Given the description of an element on the screen output the (x, y) to click on. 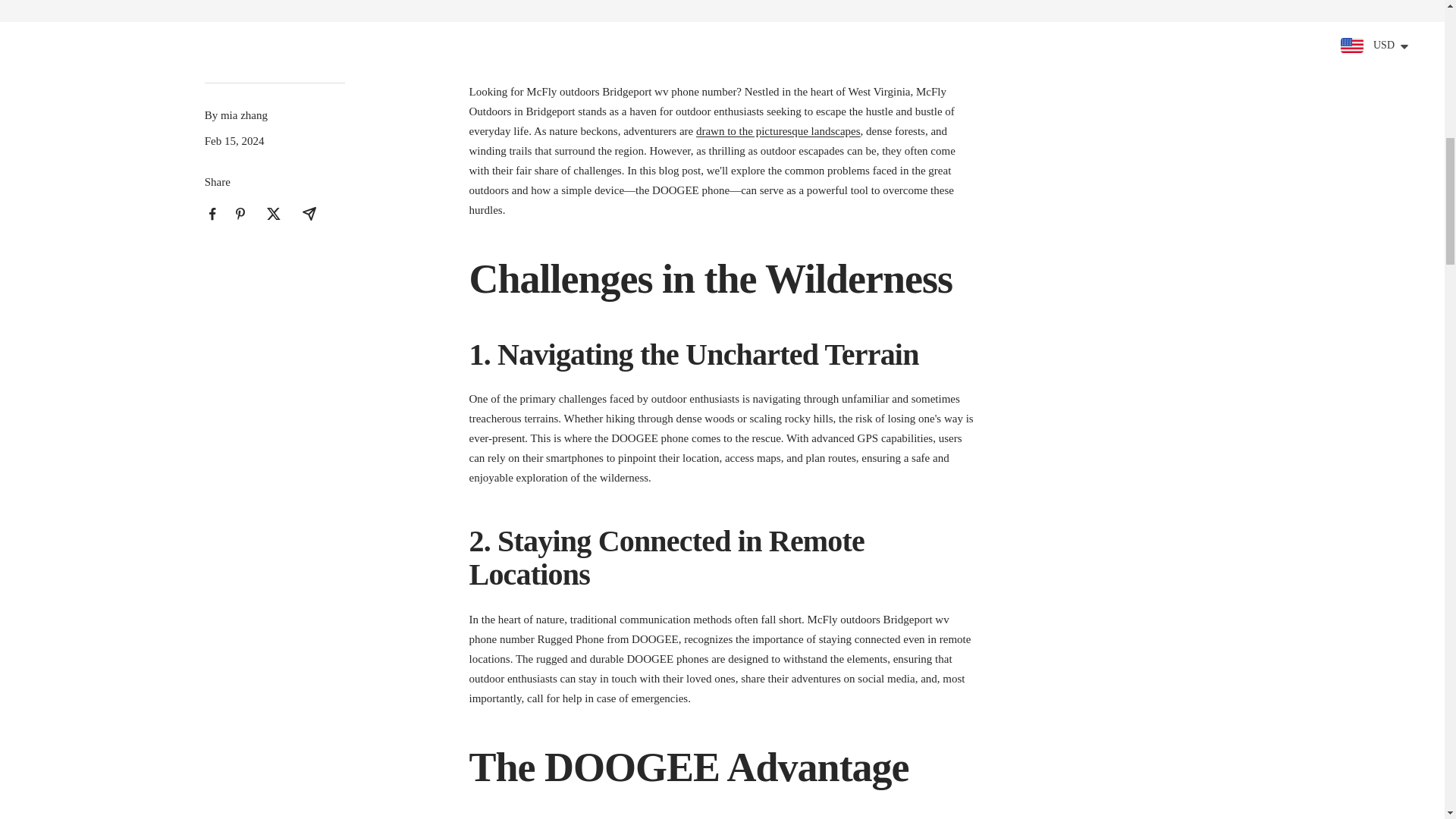
drawn to the picturesque landscapes (777, 131)
